Given the description of an element on the screen output the (x, y) to click on. 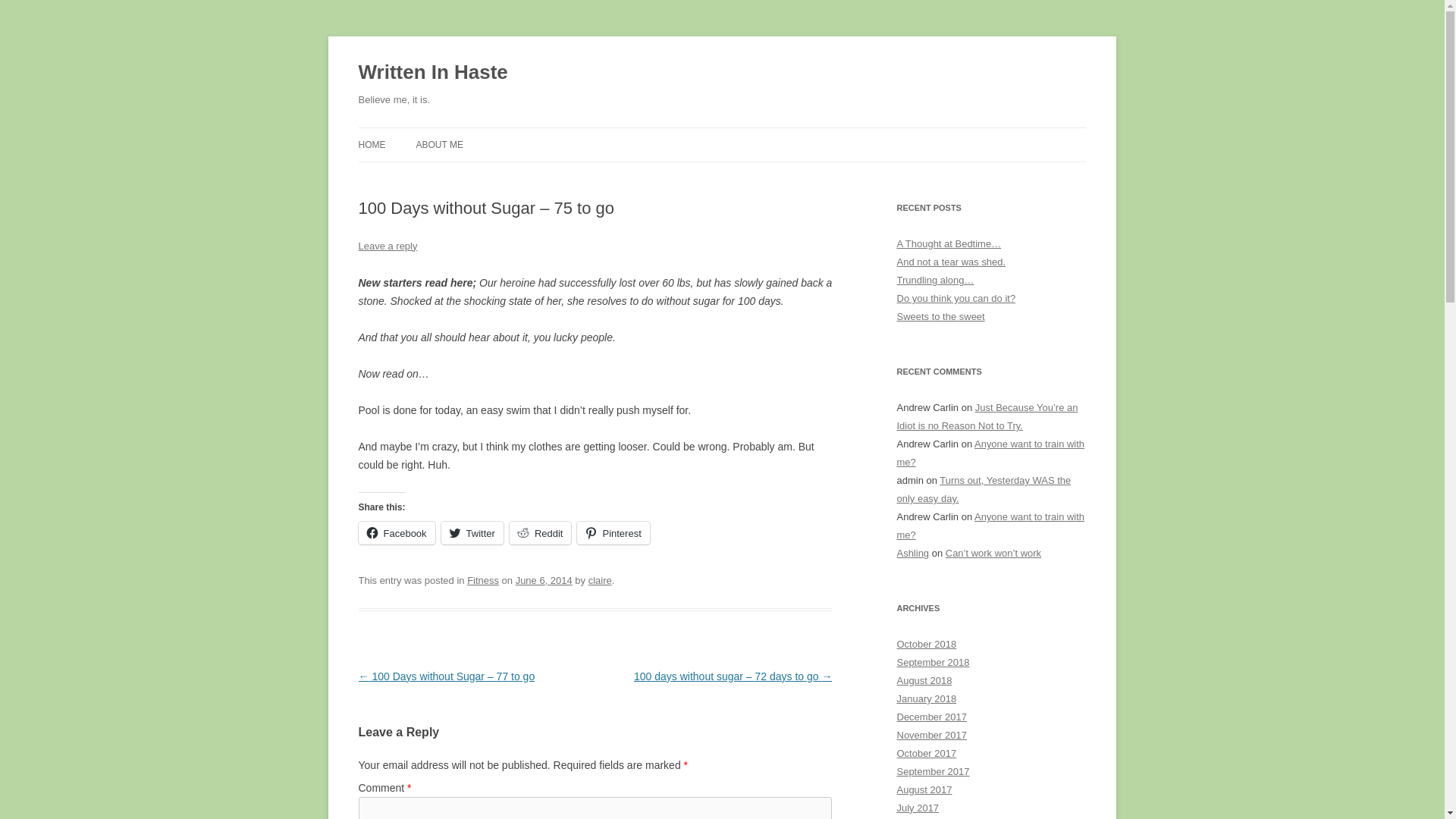
Pinterest (612, 532)
August 2018 (924, 680)
Turns out, Yesterday WAS the only easy day. (983, 489)
June 6, 2014 (543, 580)
January 2018 (926, 698)
Facebook (395, 532)
Click to share on Pinterest (612, 532)
November 2017 (931, 735)
Written In Haste (432, 72)
Anyone want to train with me? (990, 452)
Leave a reply (387, 245)
Anyone want to train with me? (990, 525)
October 2017 (926, 753)
October 2018 (926, 644)
Sweets to the sweet (940, 316)
